Given the description of an element on the screen output the (x, y) to click on. 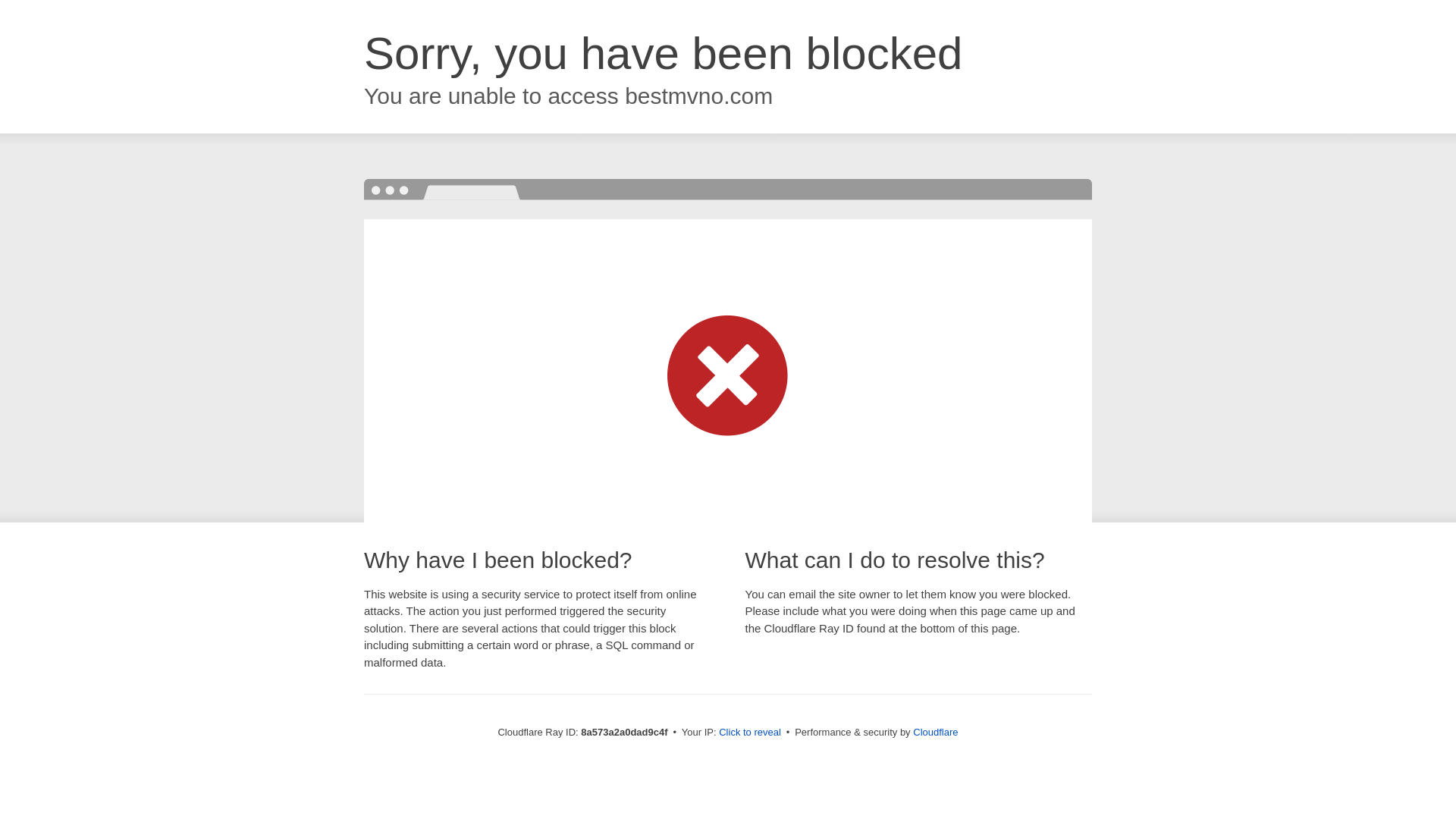
Cloudflare (935, 731)
Click to reveal (749, 732)
